Given the description of an element on the screen output the (x, y) to click on. 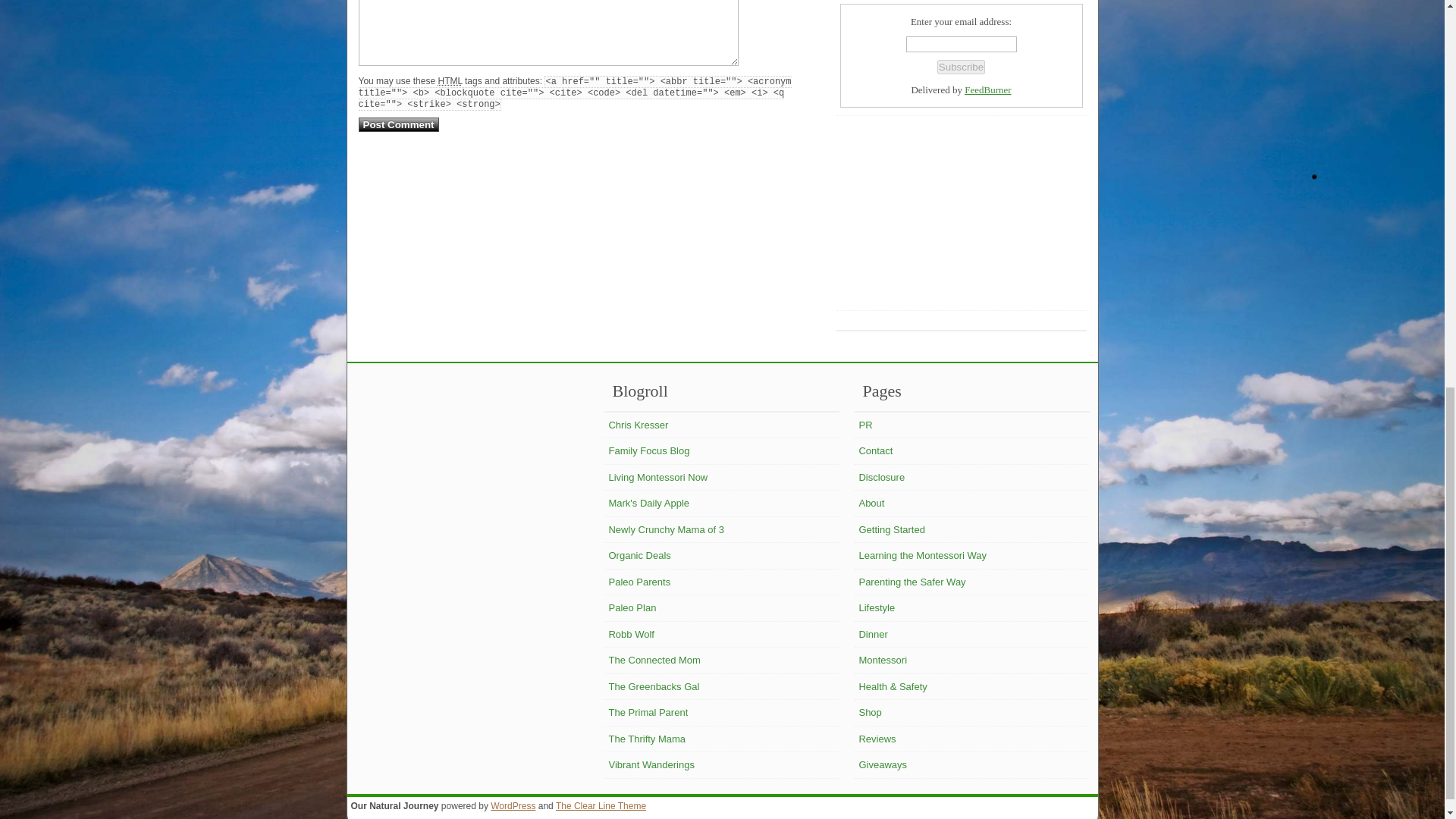
Post Comment (398, 124)
Subscribe (961, 66)
Post Comment (398, 124)
Subscribe (961, 66)
